Given the description of an element on the screen output the (x, y) to click on. 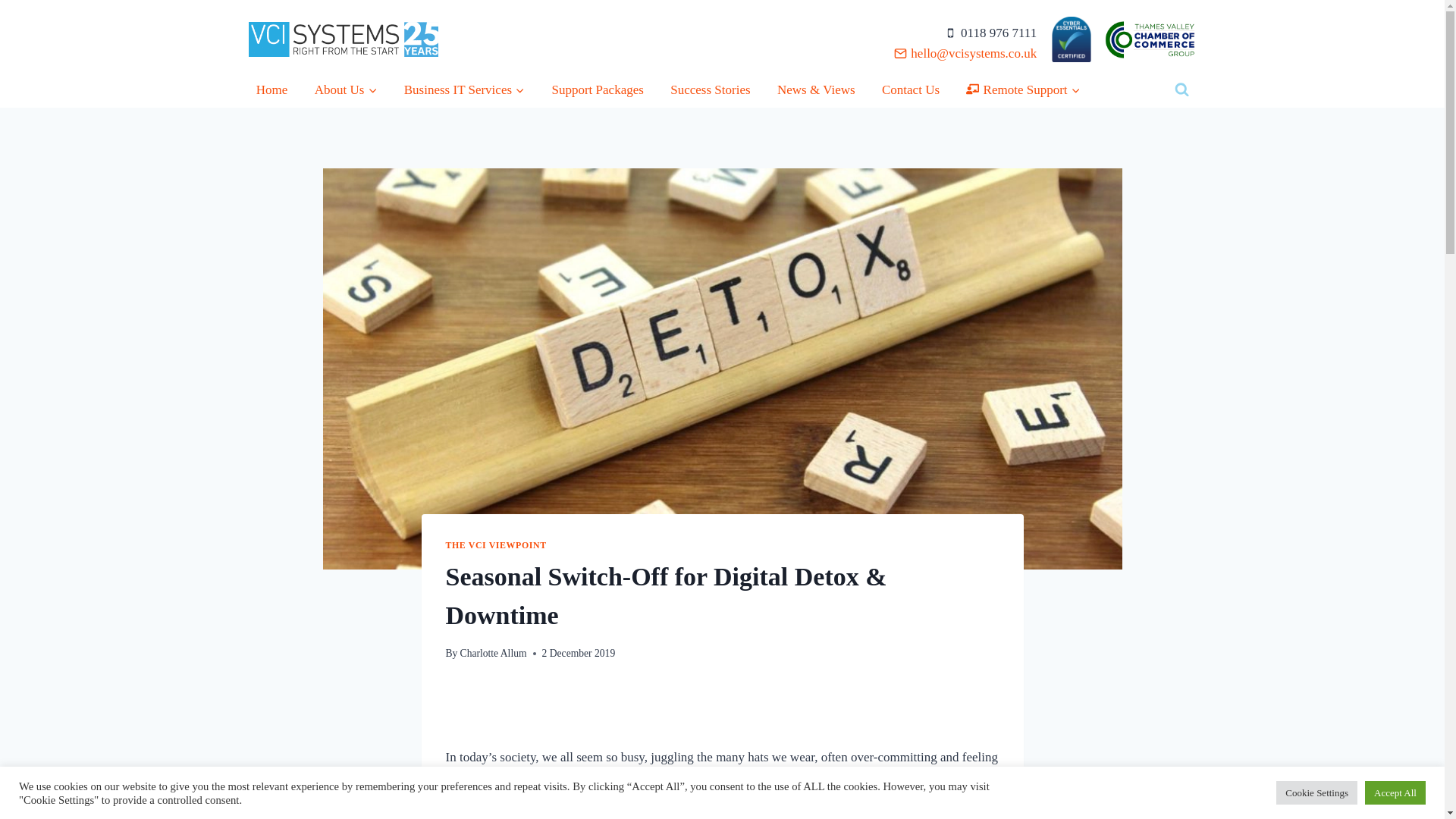
Business IT Services (464, 89)
Home (271, 89)
THE VCI VIEWPOINT (496, 544)
Remote Support (1022, 89)
About Us (344, 89)
Support Packages (596, 89)
Contact Us (911, 89)
Success Stories (710, 89)
Charlotte Allum (493, 653)
